Given the description of an element on the screen output the (x, y) to click on. 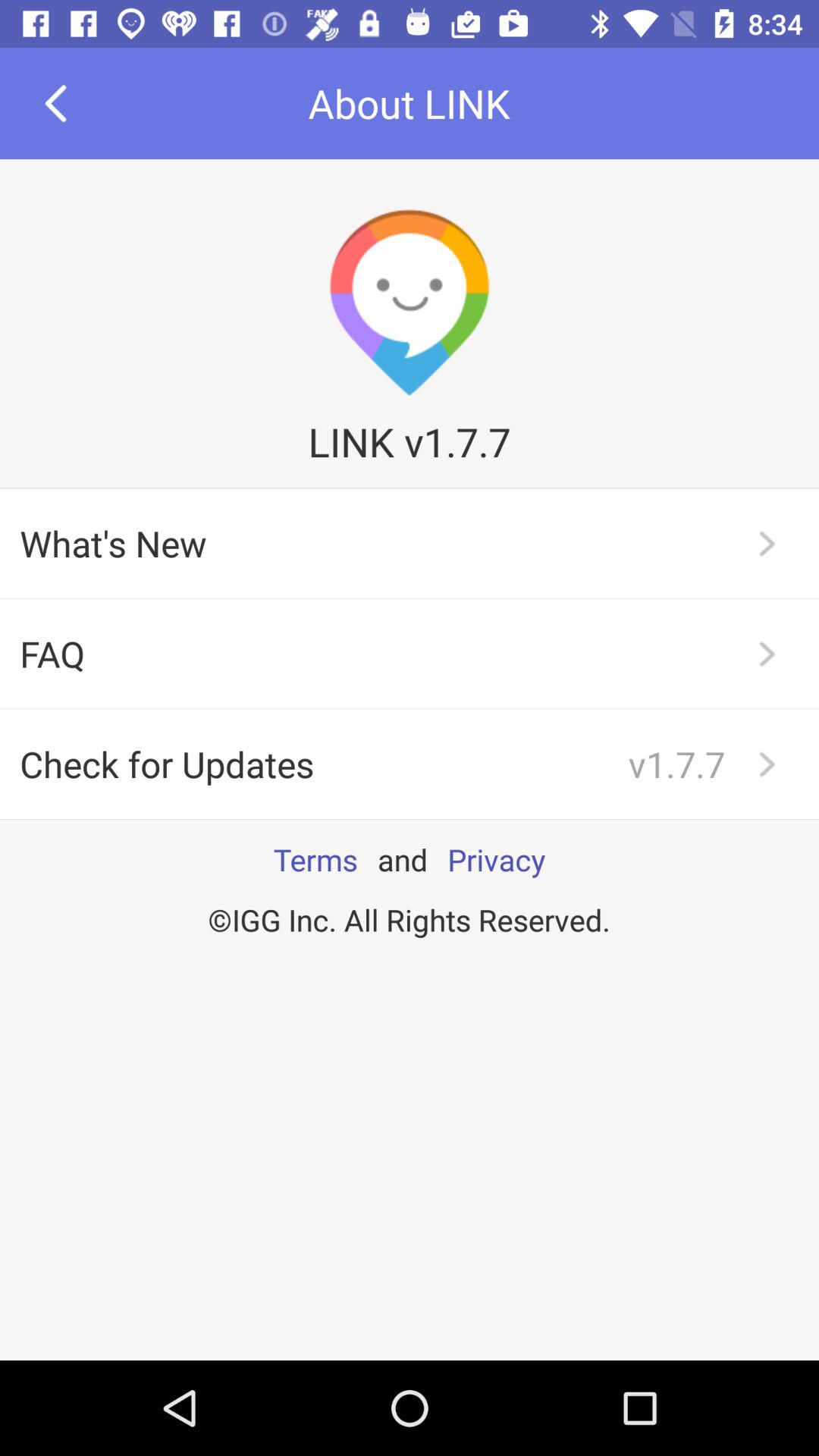
tap item to the left of and app (315, 859)
